Given the description of an element on the screen output the (x, y) to click on. 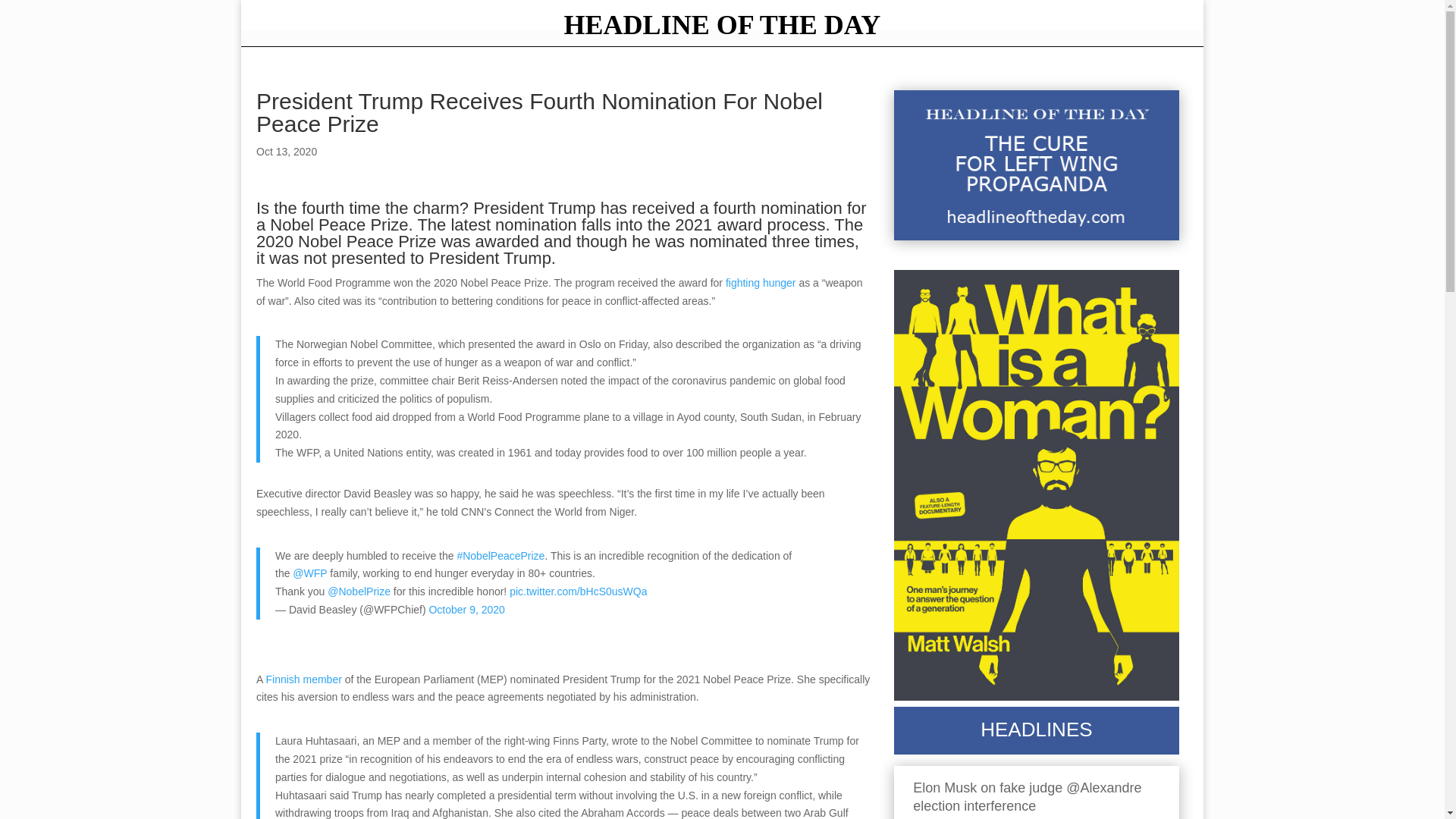
October 9, 2020 (465, 609)
fighting hunger (760, 282)
Home Page (721, 28)
Finnish member (302, 679)
